Given the description of an element on the screen output the (x, y) to click on. 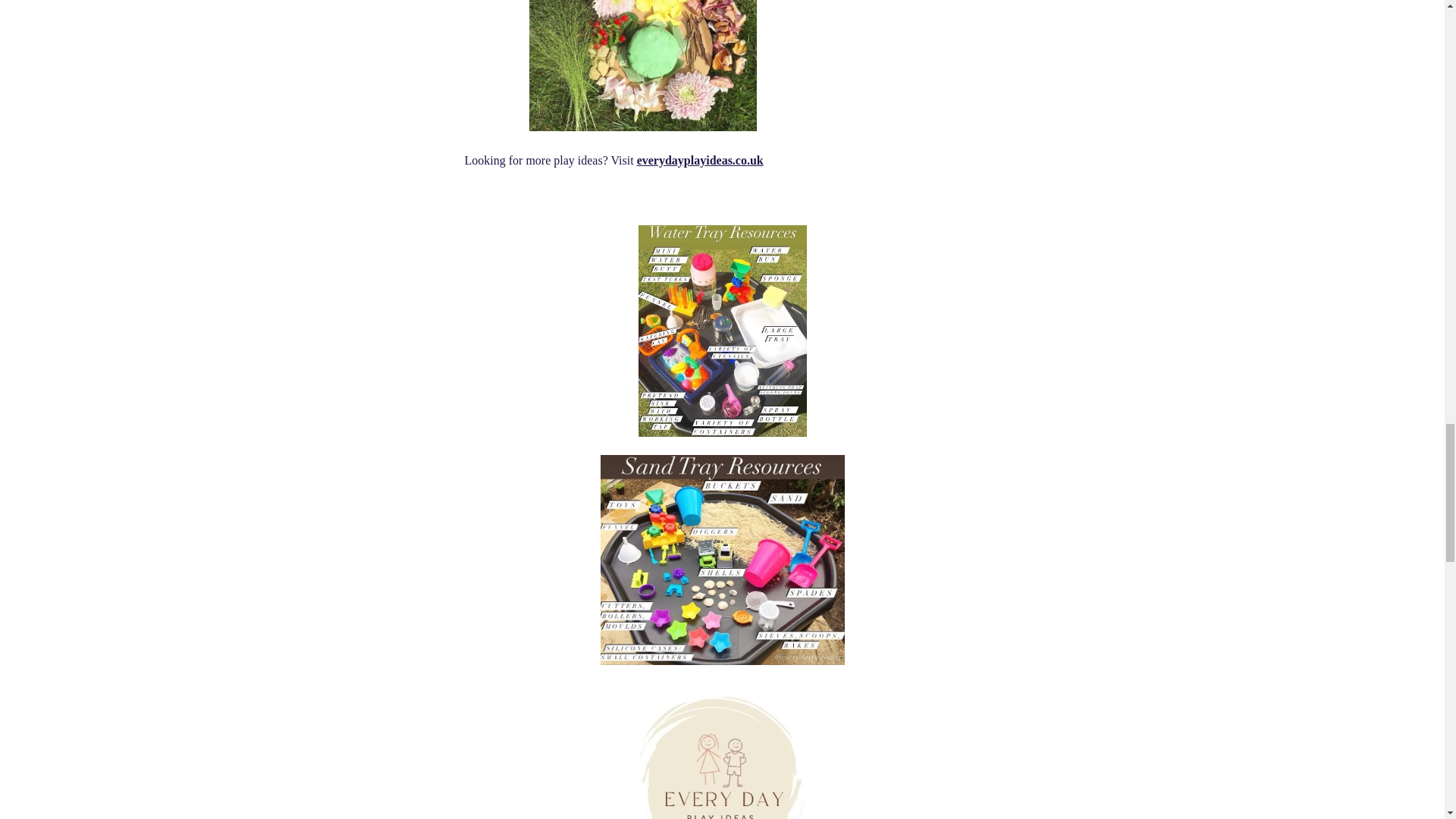
everydayplayideas.co.uk (699, 159)
